Given the description of an element on the screen output the (x, y) to click on. 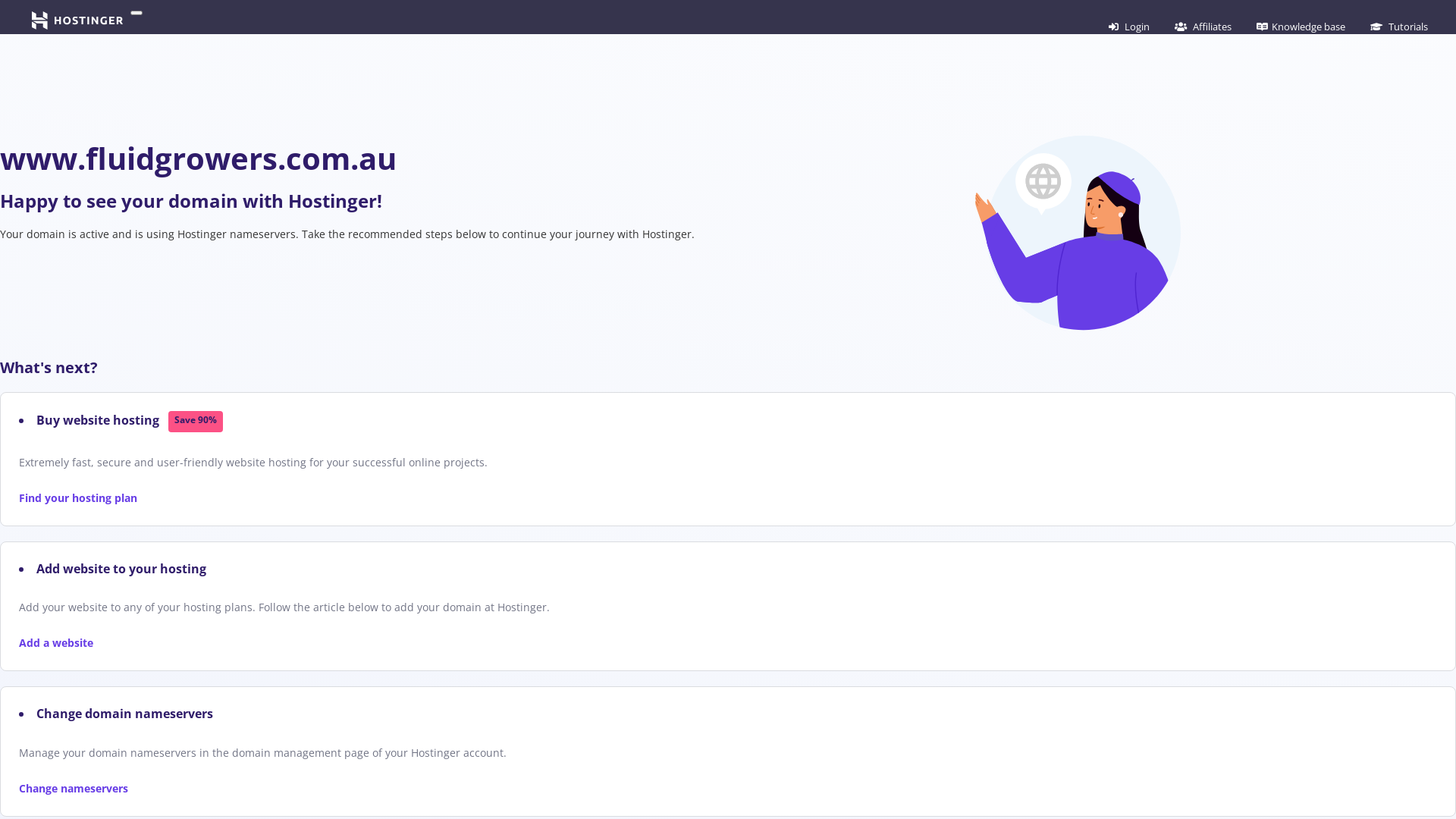
Knowledge base Element type: text (1300, 26)
Tutorials Element type: text (1398, 26)
Login Element type: text (1128, 26)
Find your hosting plan Element type: text (77, 497)
Affiliates Element type: text (1202, 26)
Change nameservers Element type: text (73, 788)
Add a website Element type: text (55, 642)
